Given the description of an element on the screen output the (x, y) to click on. 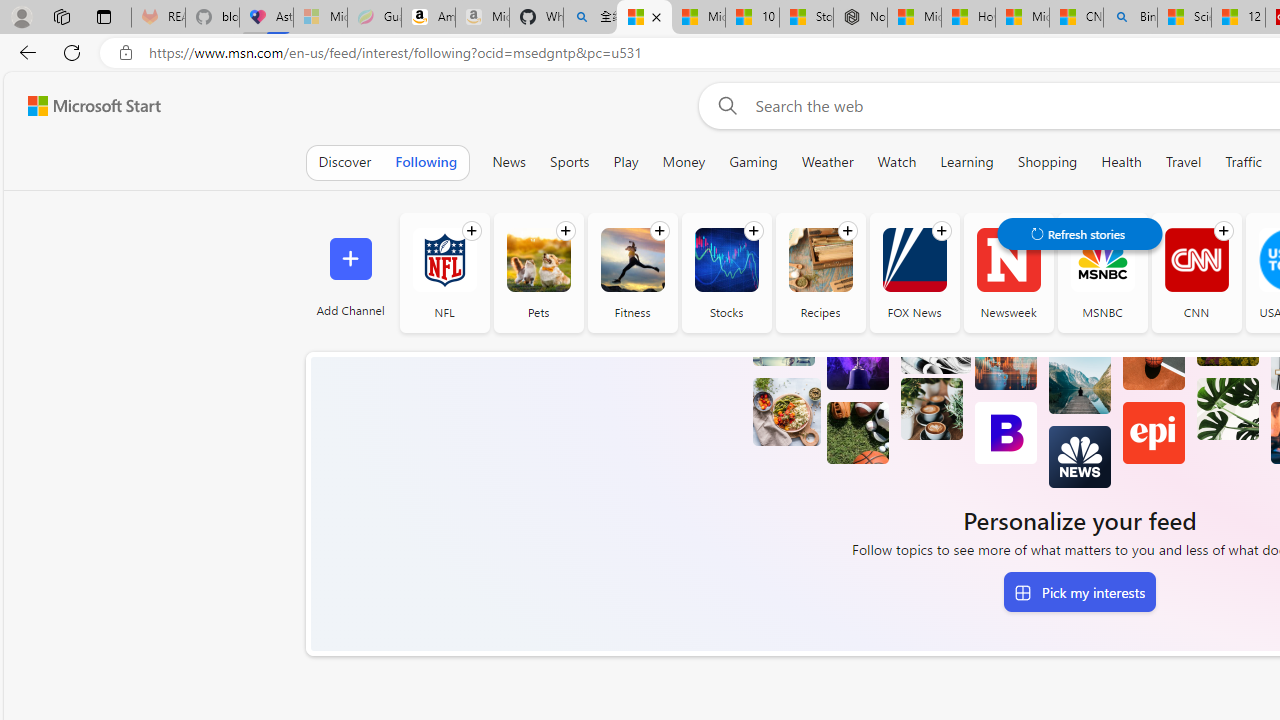
NFL (444, 260)
Skip to footer (82, 105)
